Given the description of an element on the screen output the (x, y) to click on. 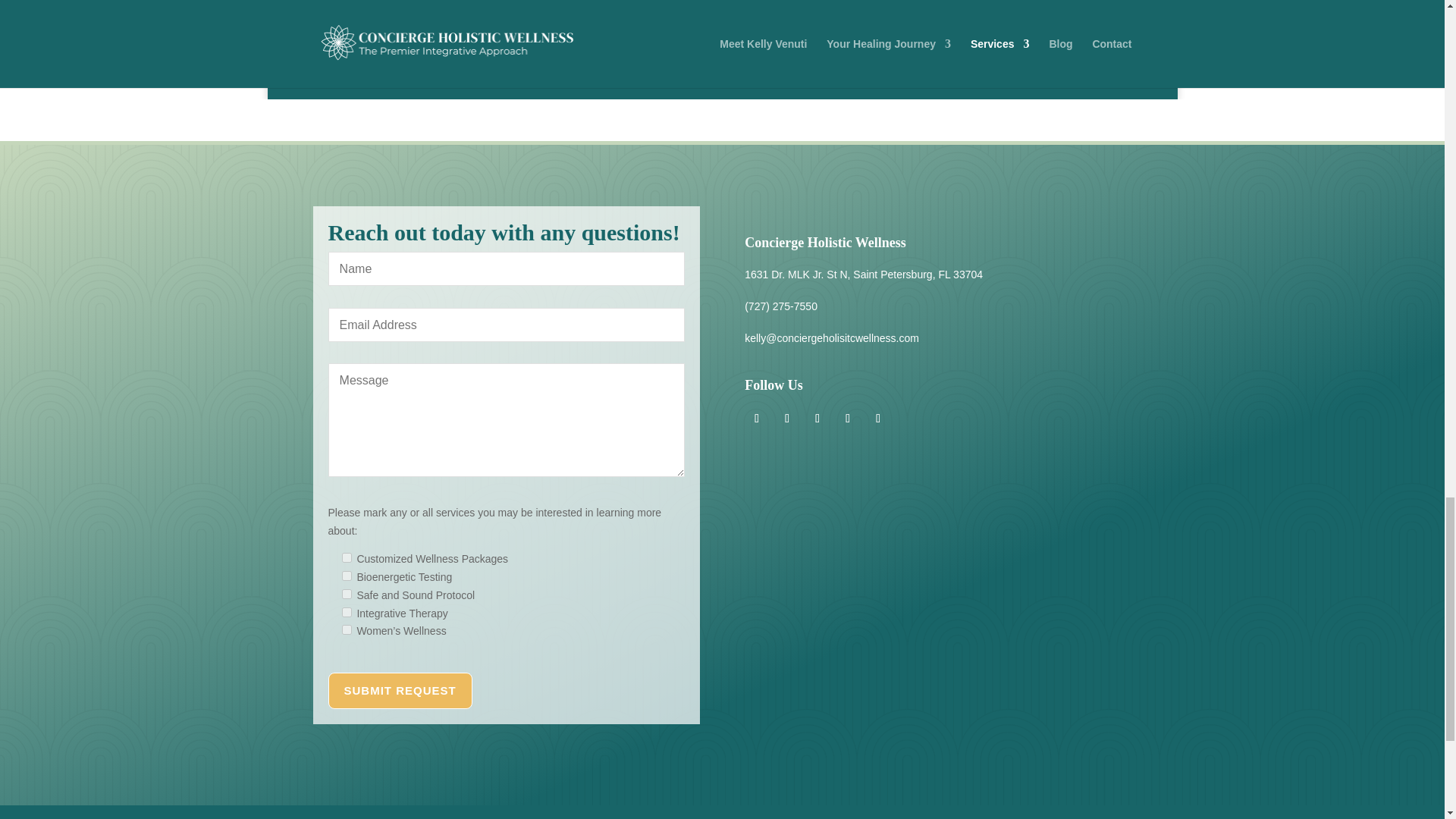
Follow on LinkedIn (786, 418)
Follow on Pinterest (817, 418)
Customized Wellness Packages (345, 557)
Follow on Youtube (877, 418)
Bioenergetic Testing (345, 575)
Integrative Therapy (345, 612)
Safe and Sound Protocol (345, 593)
Follow on Facebook (847, 418)
SUBMIT REQUEST (399, 690)
Follow on Instagram (756, 418)
